Given the description of an element on the screen output the (x, y) to click on. 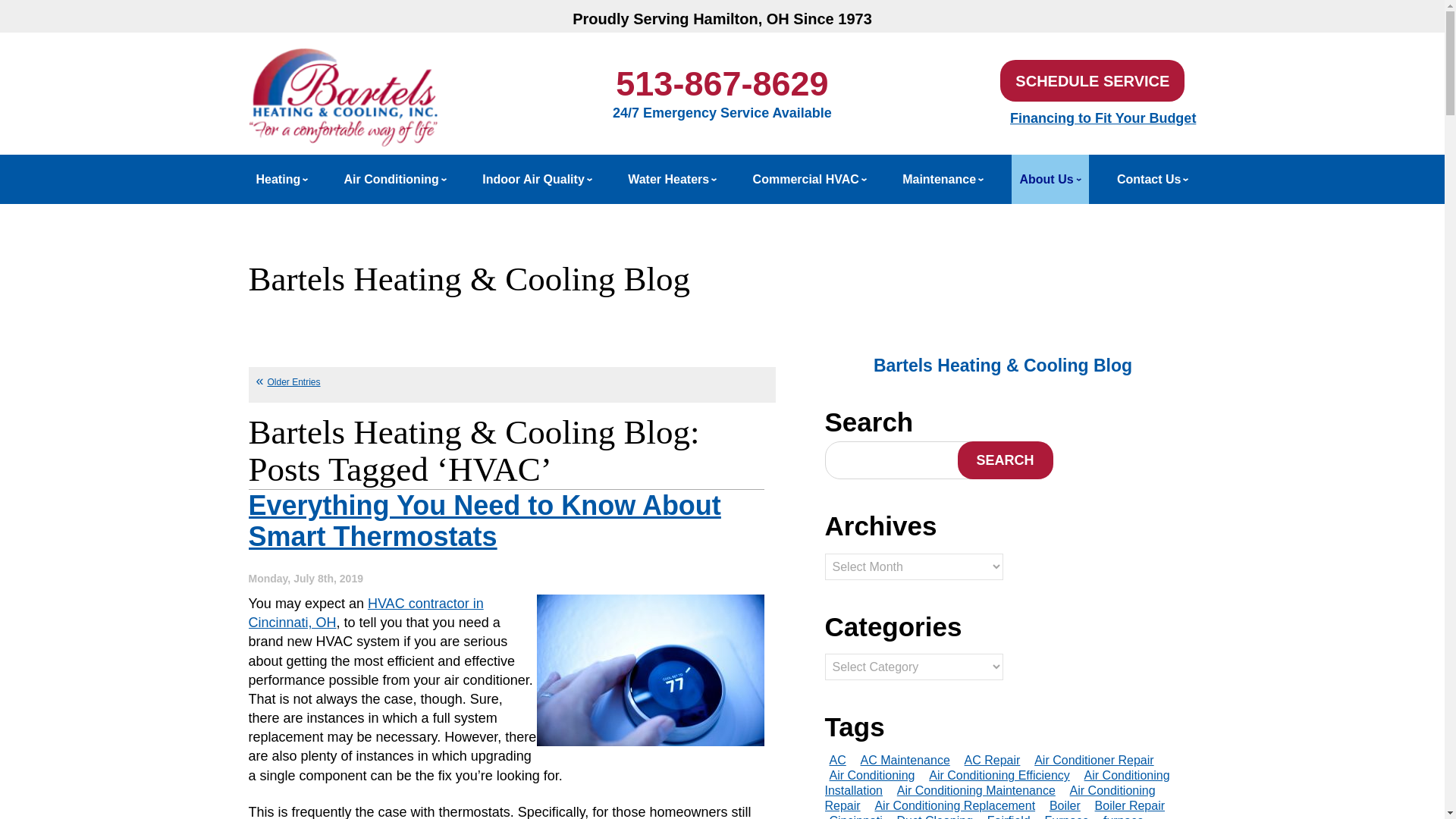
513-867-8629 (721, 83)
Financing to Fit Your Budget (1102, 117)
Heating (281, 178)
Air Conditioning (395, 178)
SCHEDULE SERVICE (1092, 80)
